Given the description of an element on the screen output the (x, y) to click on. 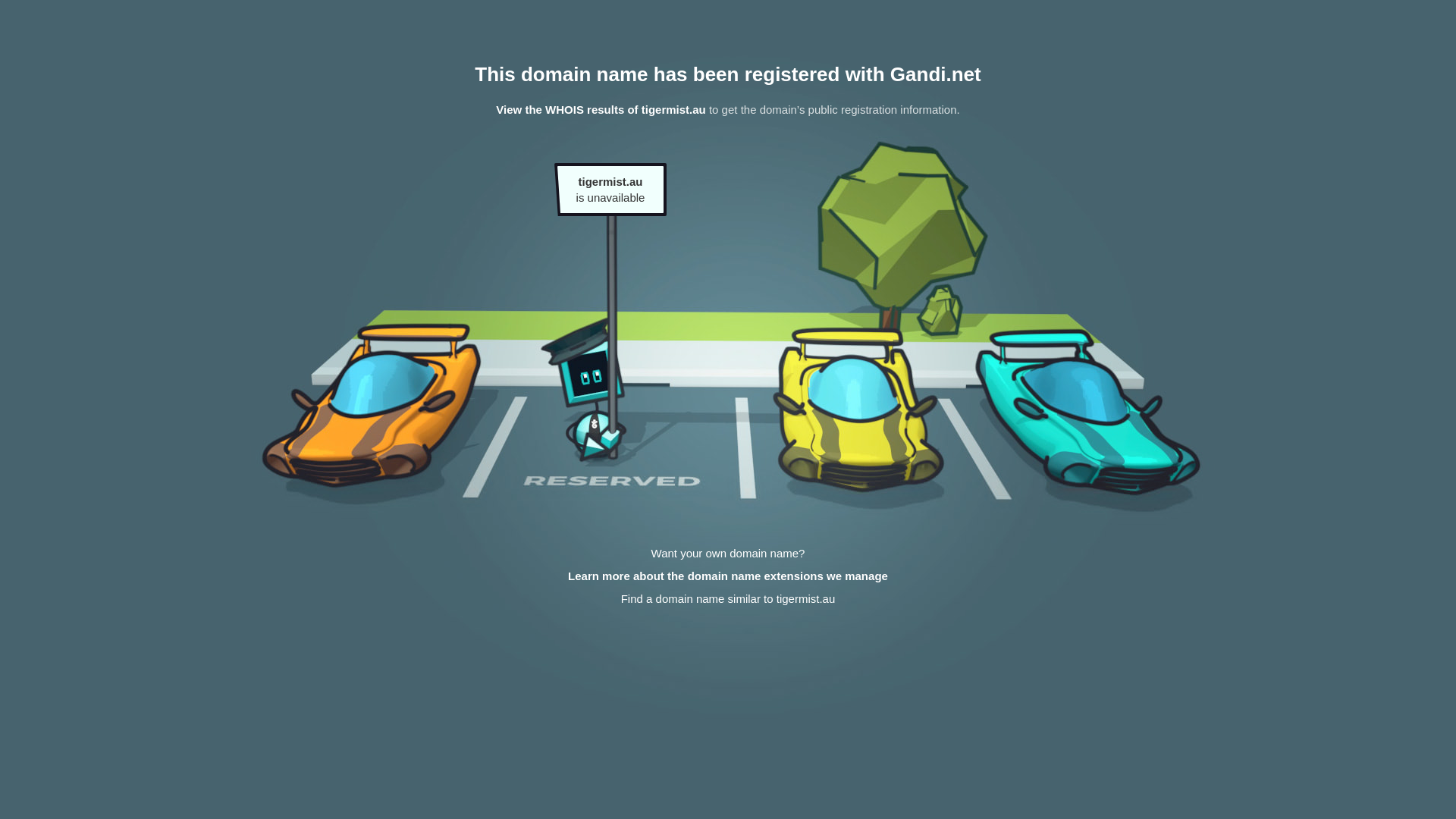
Learn more about the domain name extensions we manage Element type: text (727, 575)
Find a domain name similar to tigermist.au Element type: text (728, 598)
View the WHOIS results of tigermist.au Element type: text (600, 109)
